Given the description of an element on the screen output the (x, y) to click on. 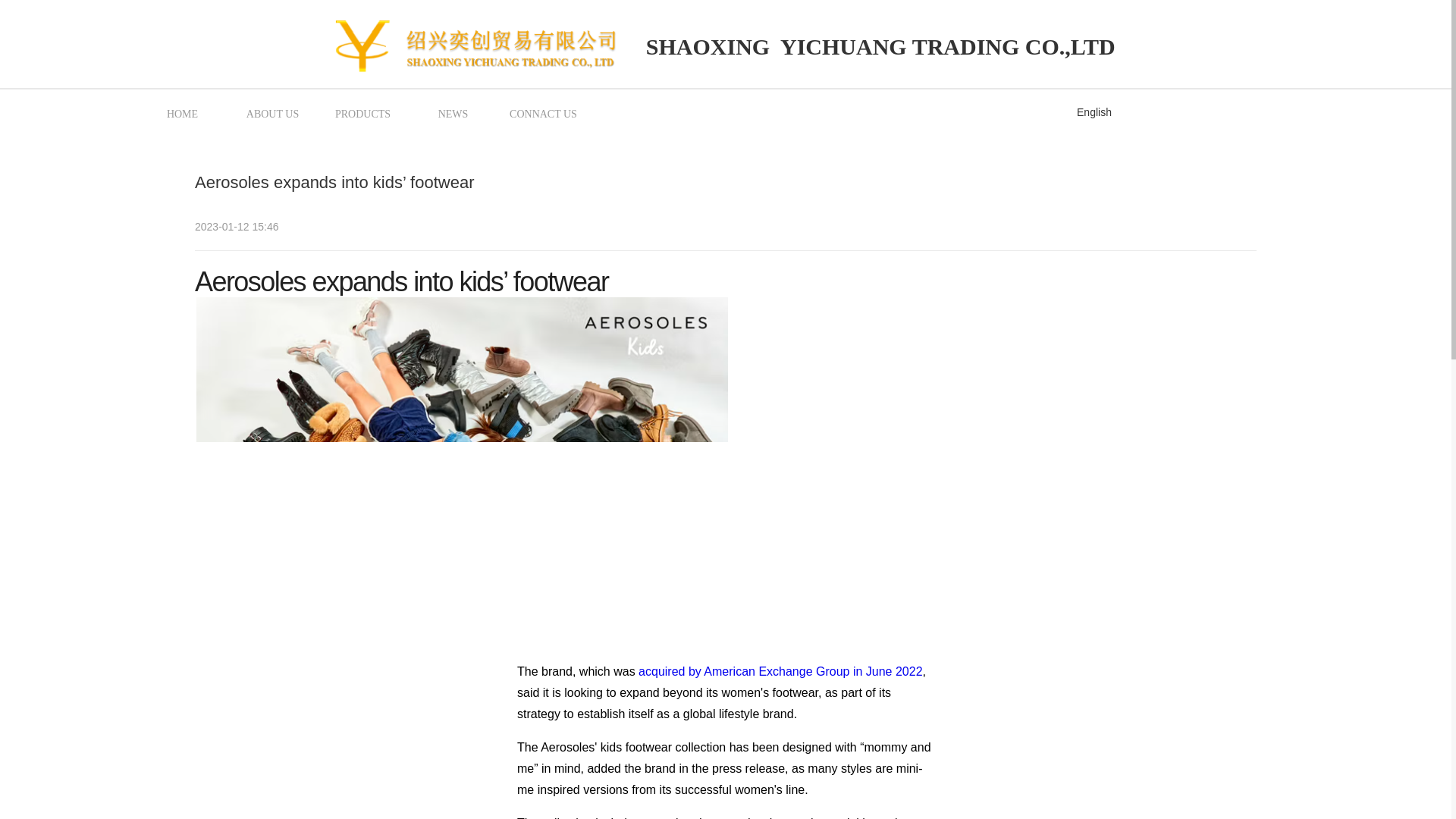
CONNACT US (542, 113)
ABOUT US (272, 113)
acquired by American Exchange Group in June 2022 (780, 671)
NEWS (452, 113)
HOME (181, 113)
PRODUCTS (362, 113)
 SHAOXING  YICHUANG TRADING CO.,LTD (877, 46)
